Given the description of an element on the screen output the (x, y) to click on. 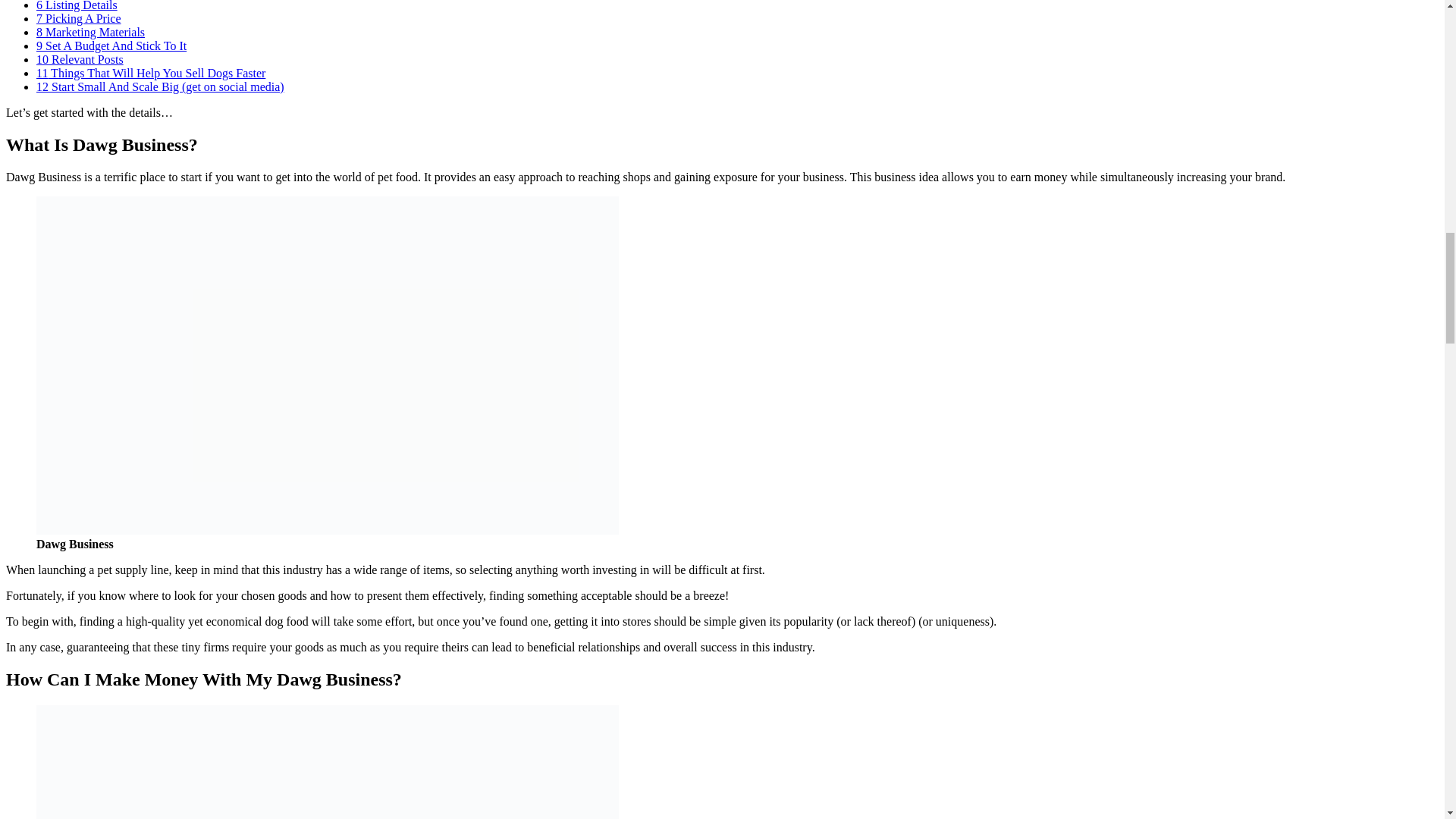
11 Things That Will Help You Sell Dogs Faster (150, 72)
9 Set A Budget And Stick To It (111, 45)
10 Relevant Posts (79, 59)
6 Listing Details (76, 5)
7 Picking A Price (78, 18)
8 Marketing Materials (90, 31)
